Given the description of an element on the screen output the (x, y) to click on. 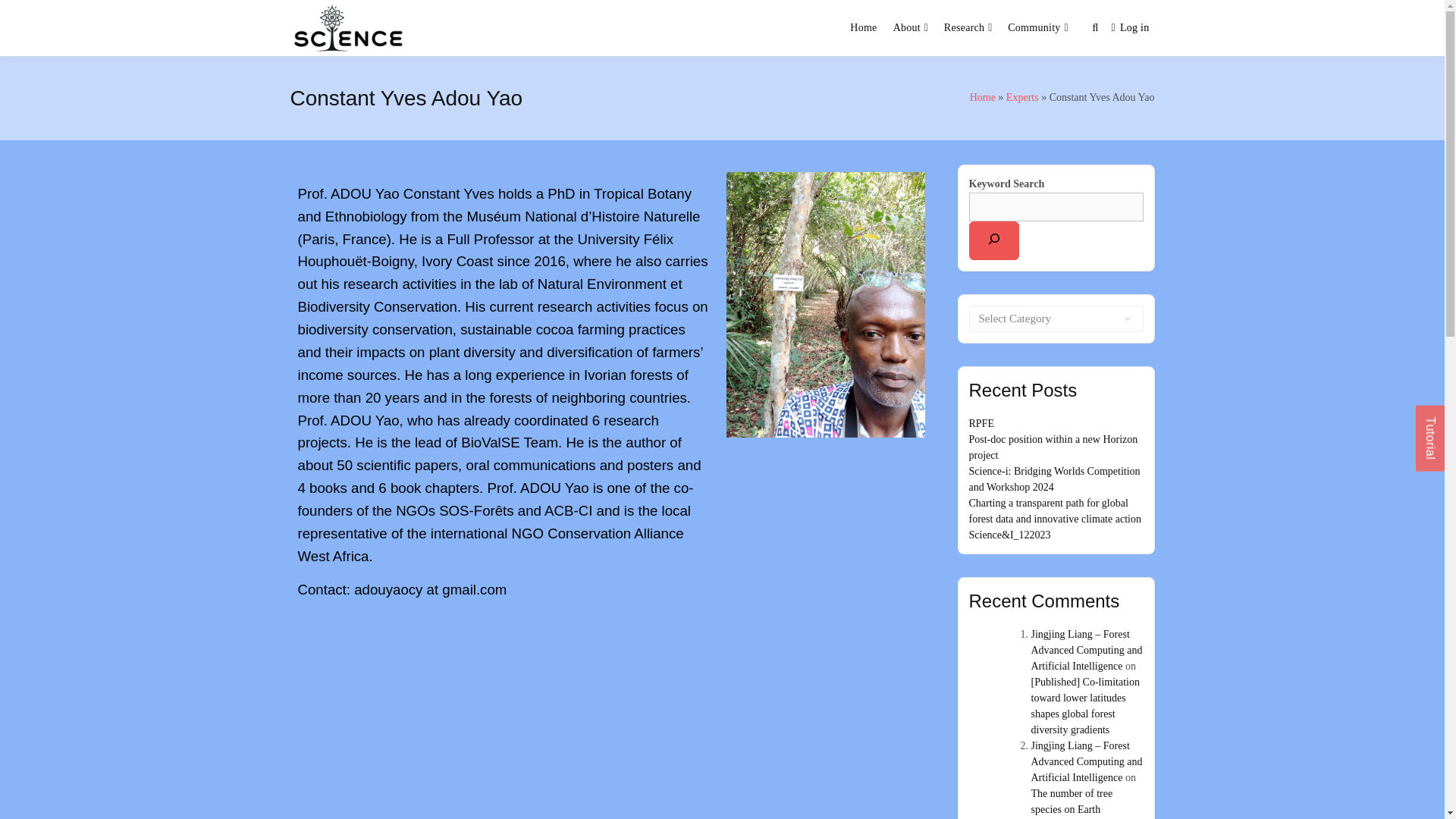
Research (964, 28)
Login (1129, 28)
Science-i (460, 46)
